Given the description of an element on the screen output the (x, y) to click on. 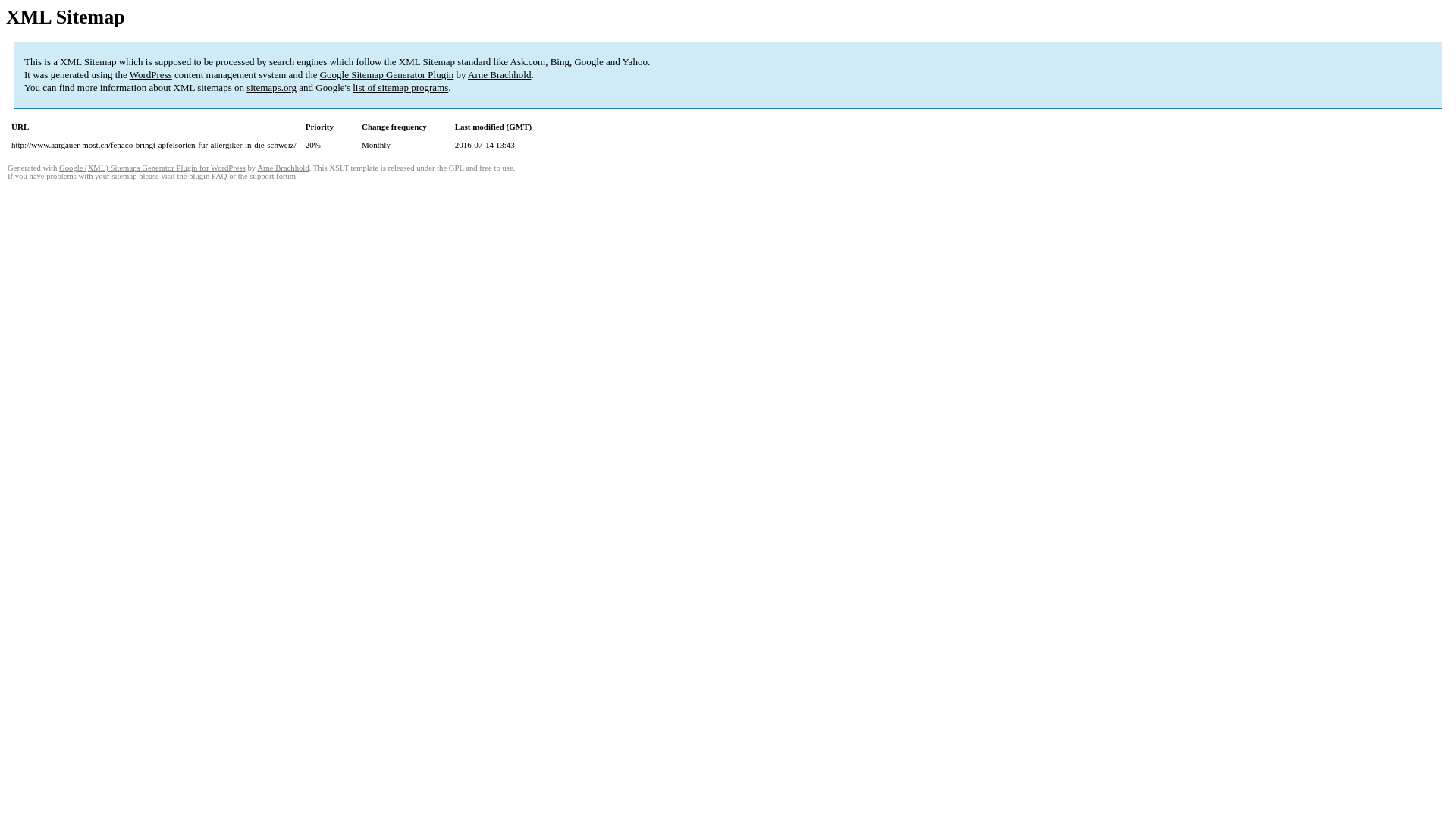
plugin FAQ Element type: text (207, 176)
list of sitemap programs Element type: text (400, 87)
Google Sitemap Generator Plugin Element type: text (387, 74)
support forum Element type: text (272, 176)
Arne Brachhold Element type: text (498, 74)
Arne Brachhold Element type: text (282, 167)
sitemaps.org Element type: text (271, 87)
Google (XML) Sitemaps Generator Plugin for WordPress Element type: text (152, 167)
WordPress Element type: text (150, 74)
